Given the description of an element on the screen output the (x, y) to click on. 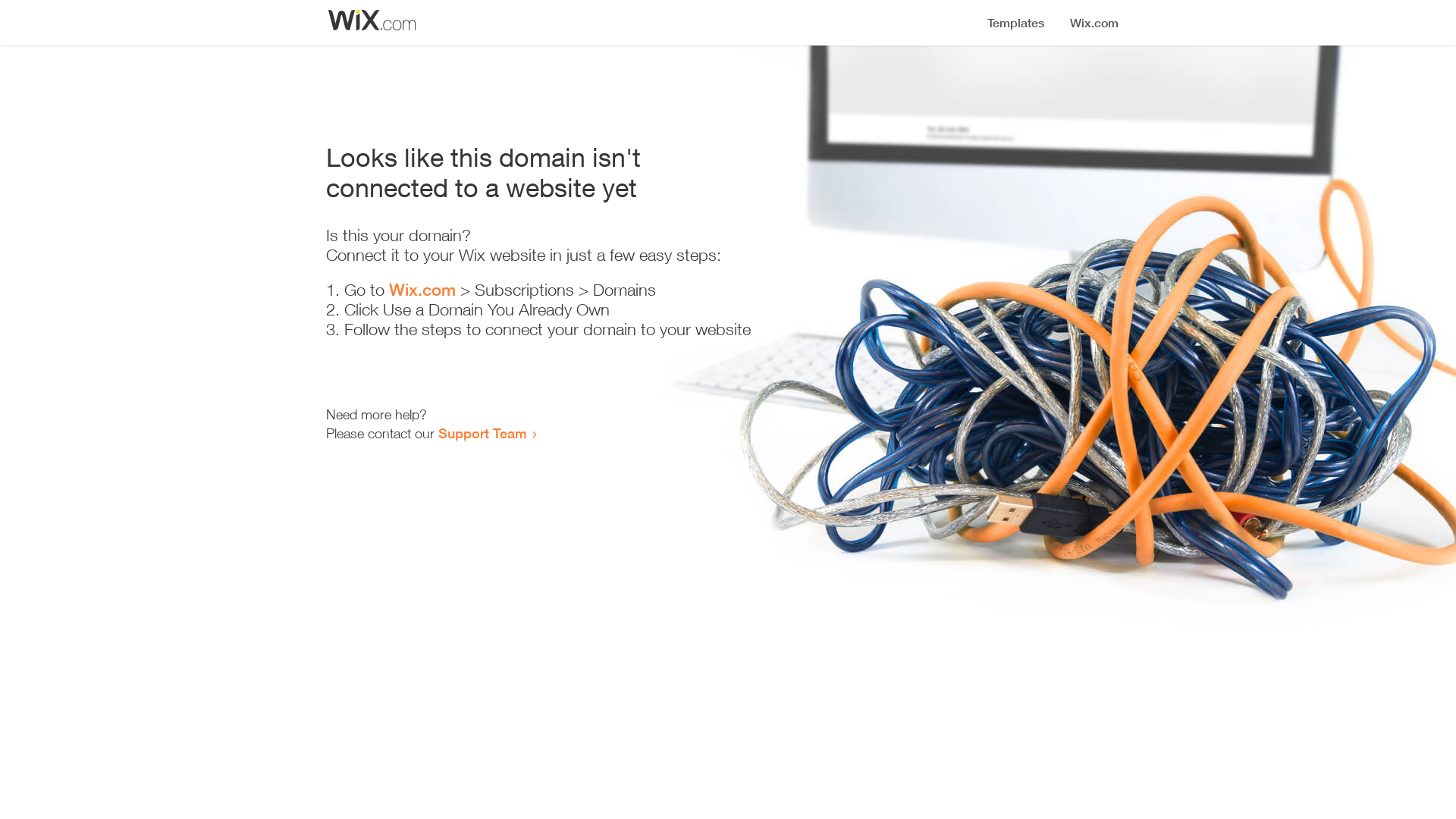
Support Team Element type: text (482, 432)
Wix.com Element type: text (422, 289)
